Given the description of an element on the screen output the (x, y) to click on. 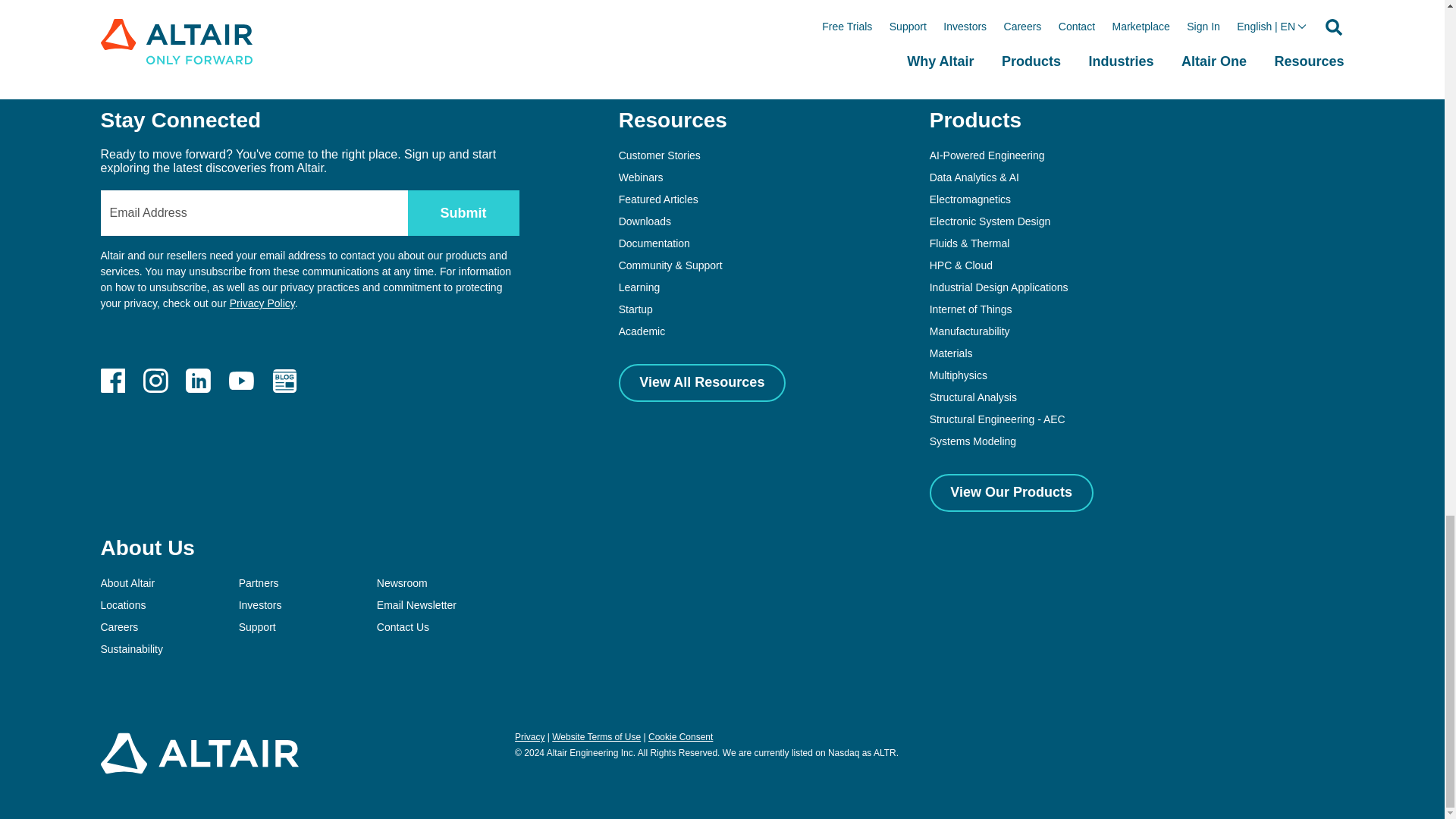
Read our privacy policy (262, 303)
Footer Logo (199, 772)
Submit (463, 212)
